Given the description of an element on the screen output the (x, y) to click on. 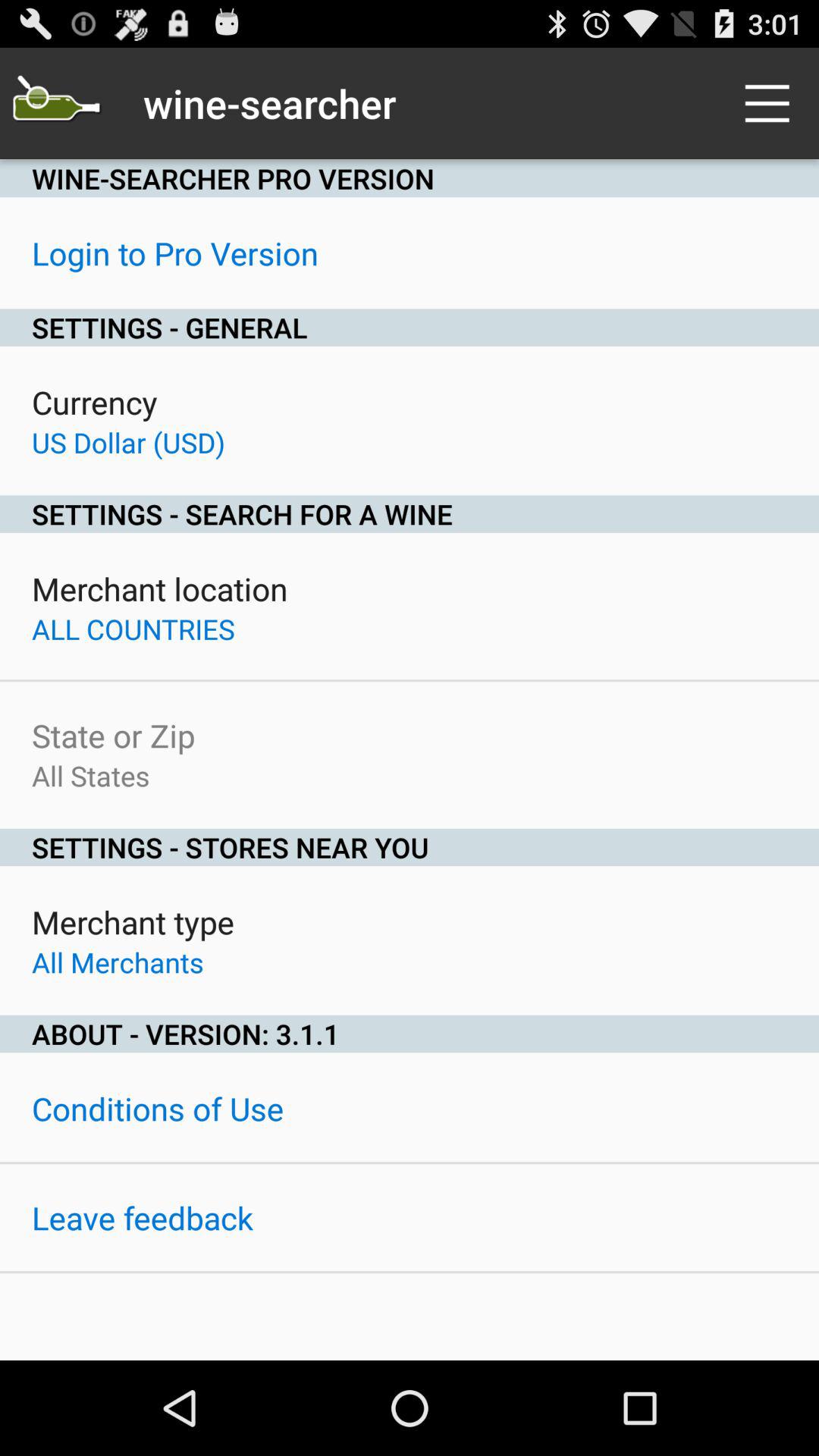
click the item below the conditions of use icon (142, 1217)
